Given the description of an element on the screen output the (x, y) to click on. 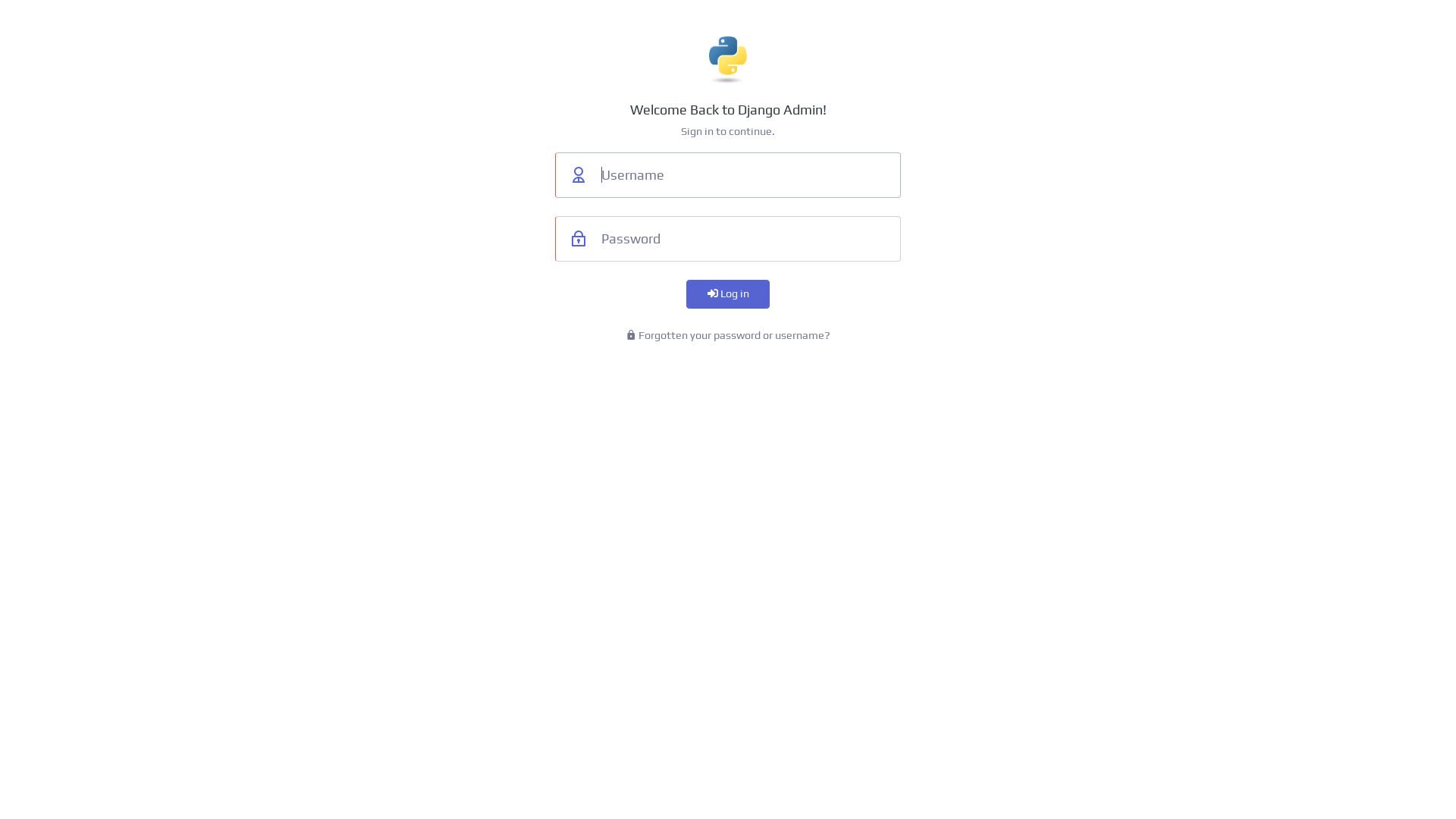
Forgotten your password or username? Element type: text (727, 335)
Log in Element type: text (727, 294)
